Given the description of an element on the screen output the (x, y) to click on. 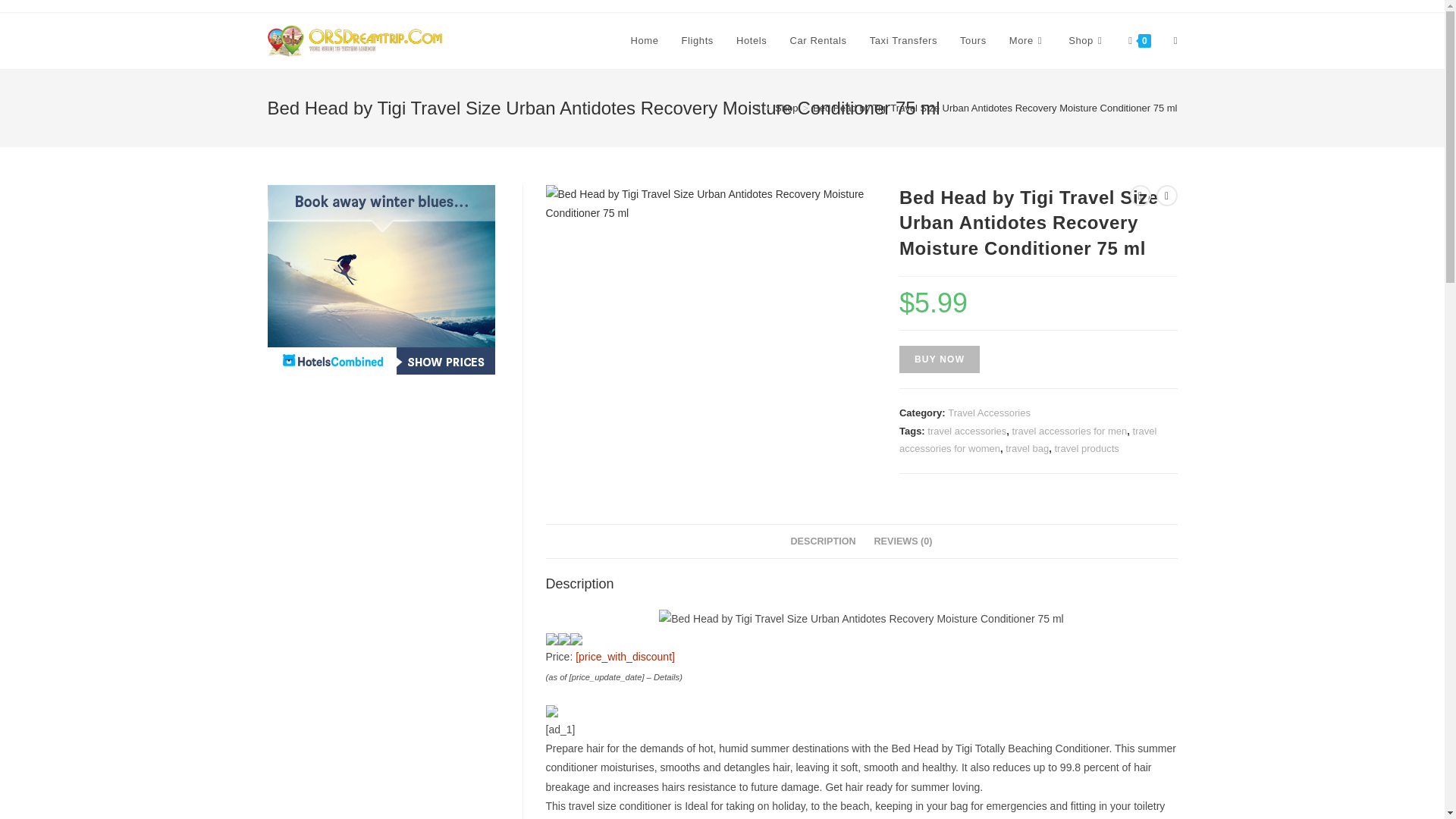
Tours (973, 40)
Toggle website search (1175, 40)
Car Rentals (817, 40)
Home (643, 40)
Hotels (751, 40)
Shop (1086, 40)
Taxi Transfers (904, 40)
0 (1138, 40)
Save on your hotel - hotelscombined.com (380, 279)
Flights (697, 40)
More (1027, 40)
